Given the description of an element on the screen output the (x, y) to click on. 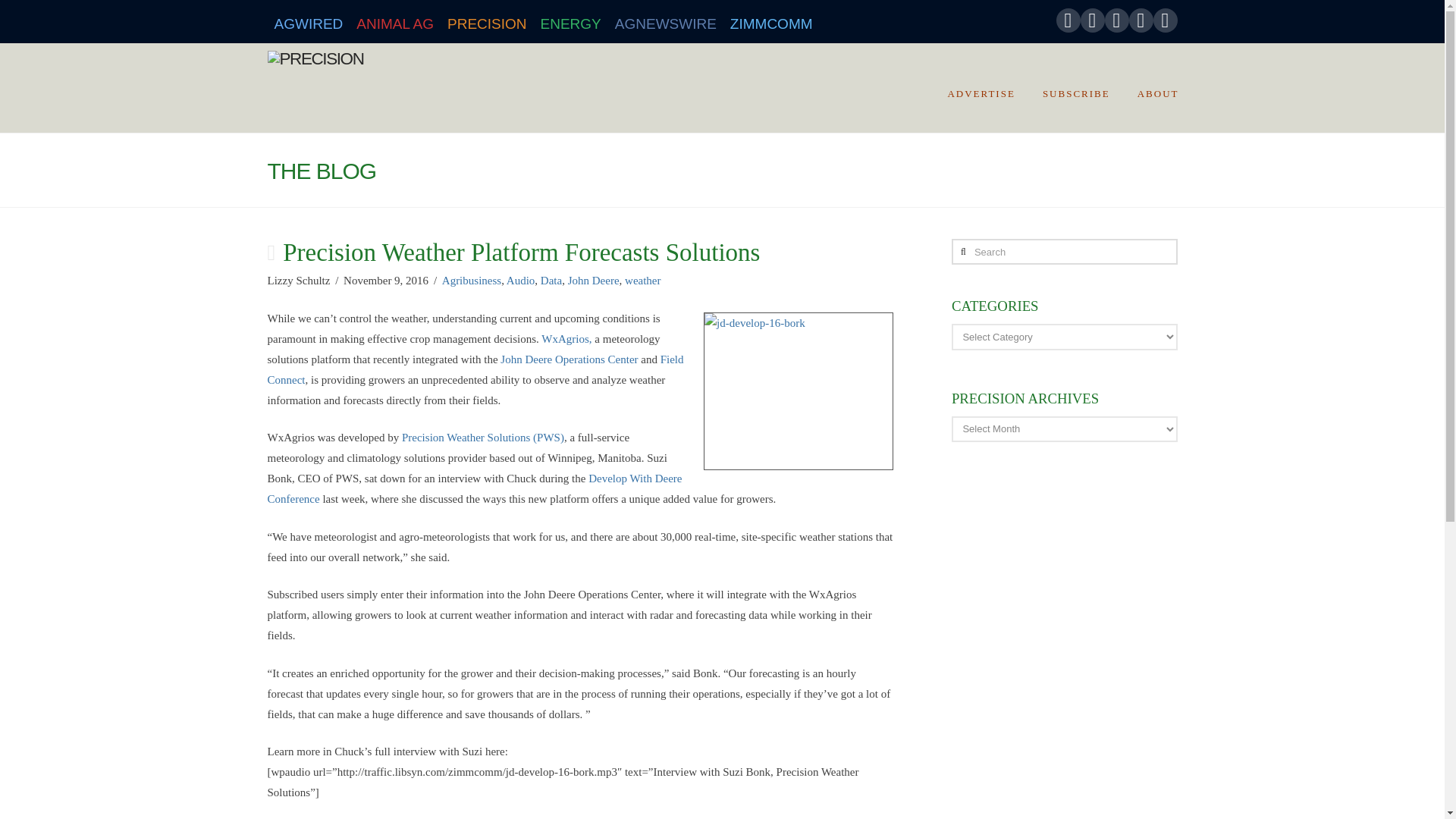
SUBSCRIBE (1074, 87)
Twitter (1091, 20)
Develop With Deere Conference (473, 488)
ANIMAL AG (395, 21)
RSS (1164, 20)
WxAgrios, (566, 338)
ADVERTISE (980, 87)
YouTube (1115, 20)
AGNEWSWIRE (665, 21)
AGWIRED (307, 21)
